Given the description of an element on the screen output the (x, y) to click on. 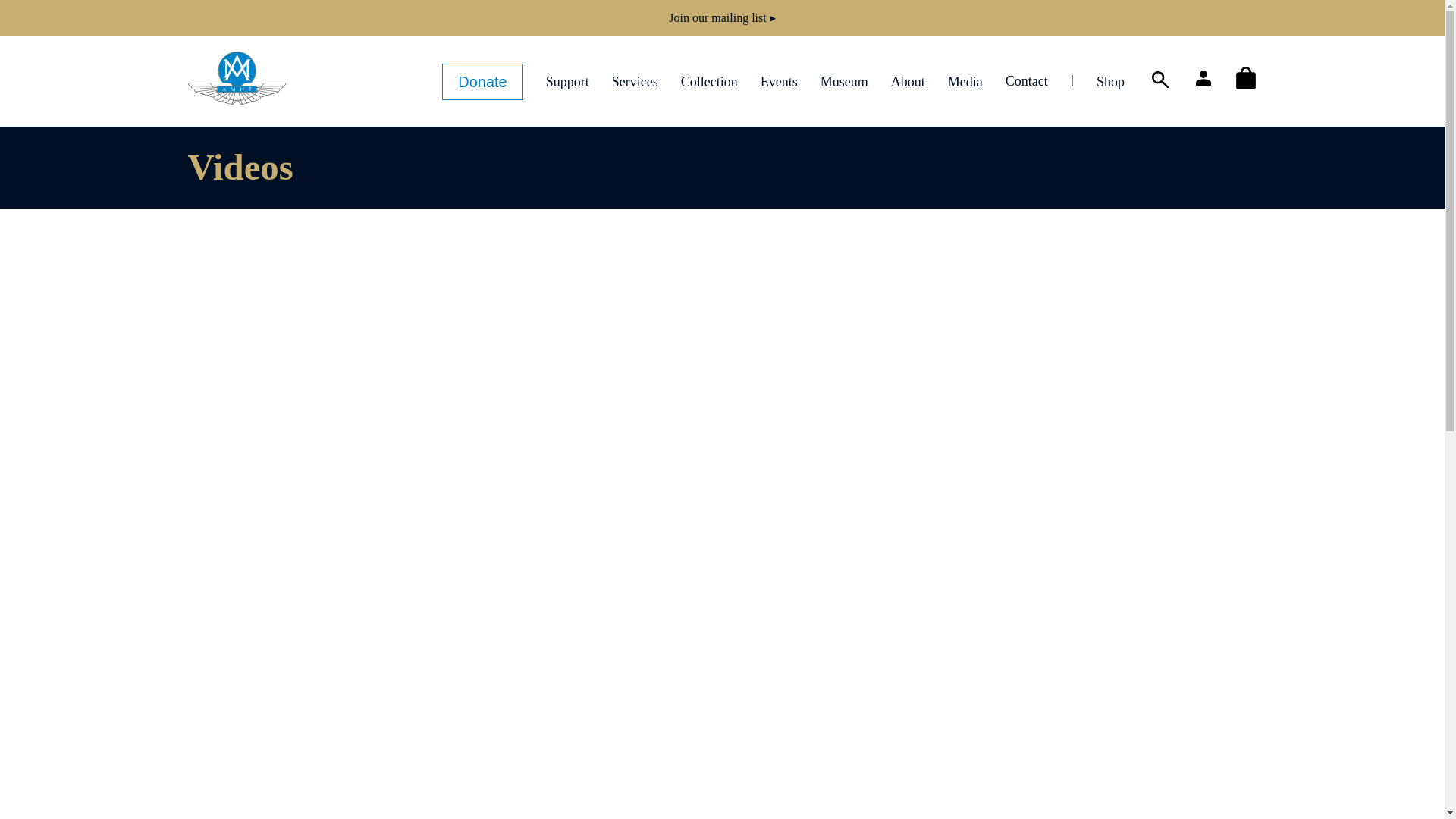
Museum (844, 80)
Contact (1027, 80)
Support (567, 80)
Services (634, 80)
Collection (709, 80)
Donate (482, 81)
About (907, 80)
Media (964, 80)
Events (778, 80)
Shop (1110, 80)
